Given the description of an element on the screen output the (x, y) to click on. 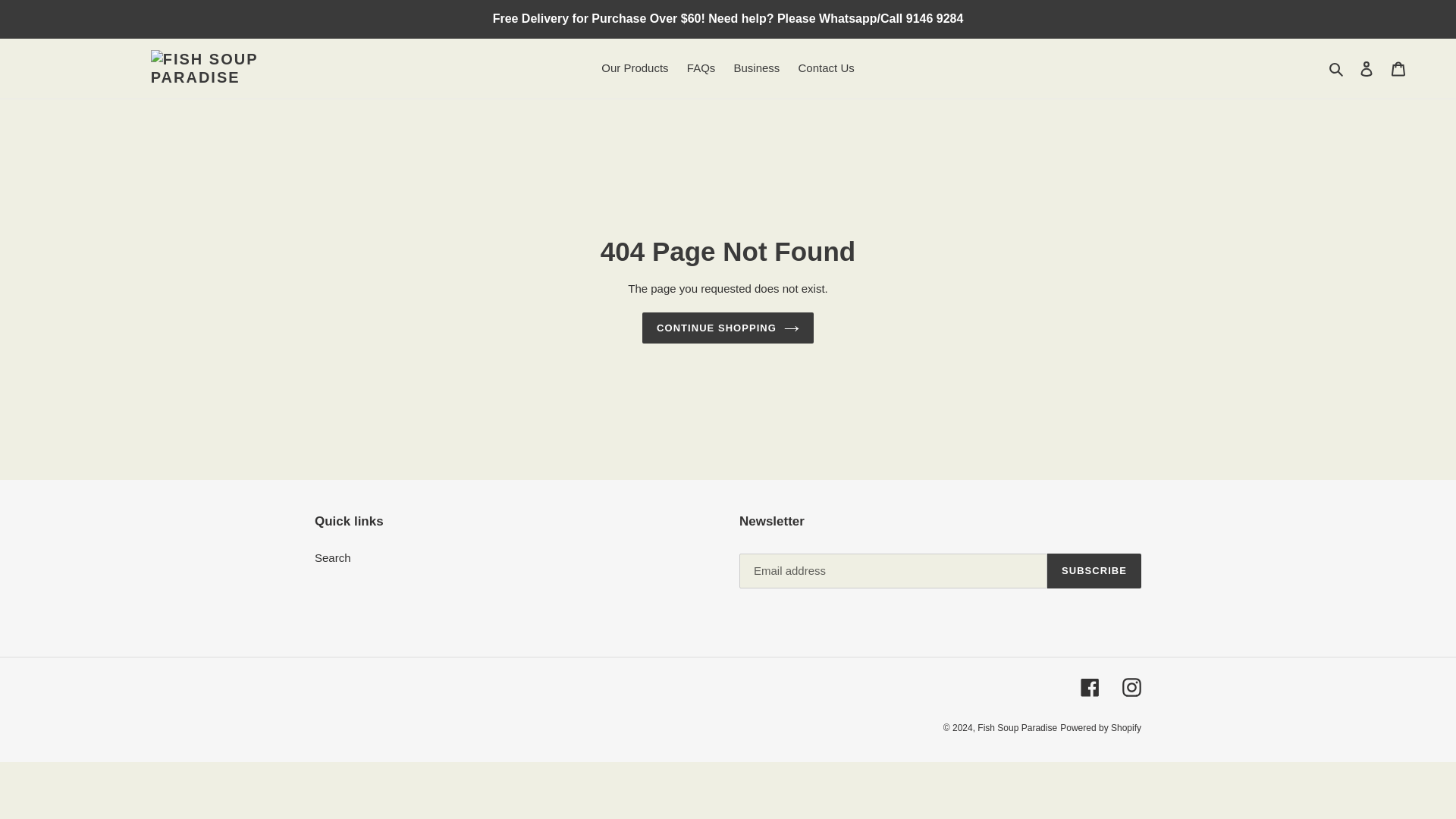
Search (1337, 67)
Fish Soup Paradise (1016, 727)
CONTINUE SHOPPING (727, 327)
Powered by Shopify (1100, 727)
Business (756, 68)
Search (332, 557)
SUBSCRIBE (1093, 570)
Cart (1397, 68)
Instagram (1131, 687)
Our Products (634, 68)
